Given the description of an element on the screen output the (x, y) to click on. 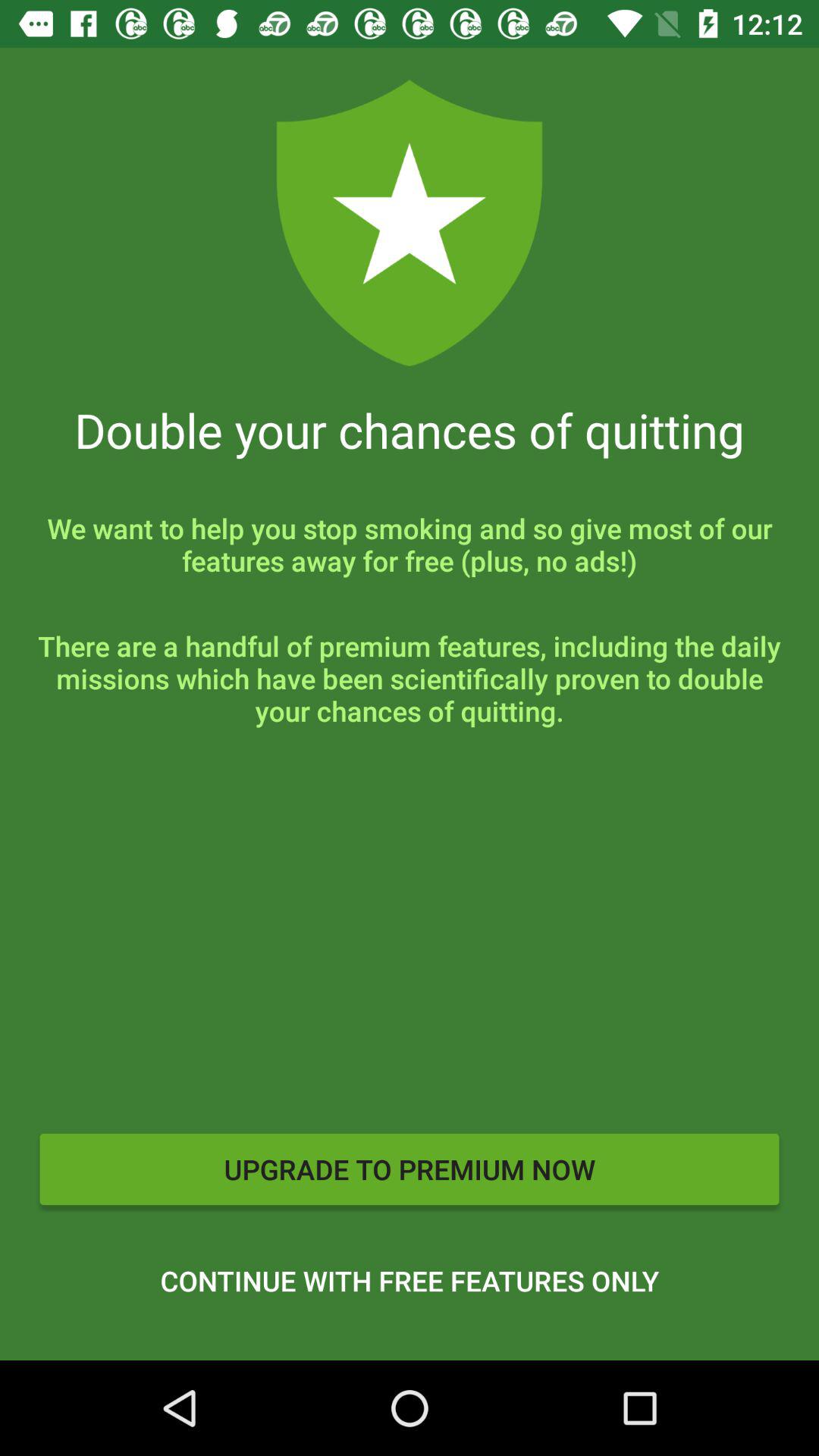
swipe to continue with free icon (409, 1280)
